Given the description of an element on the screen output the (x, y) to click on. 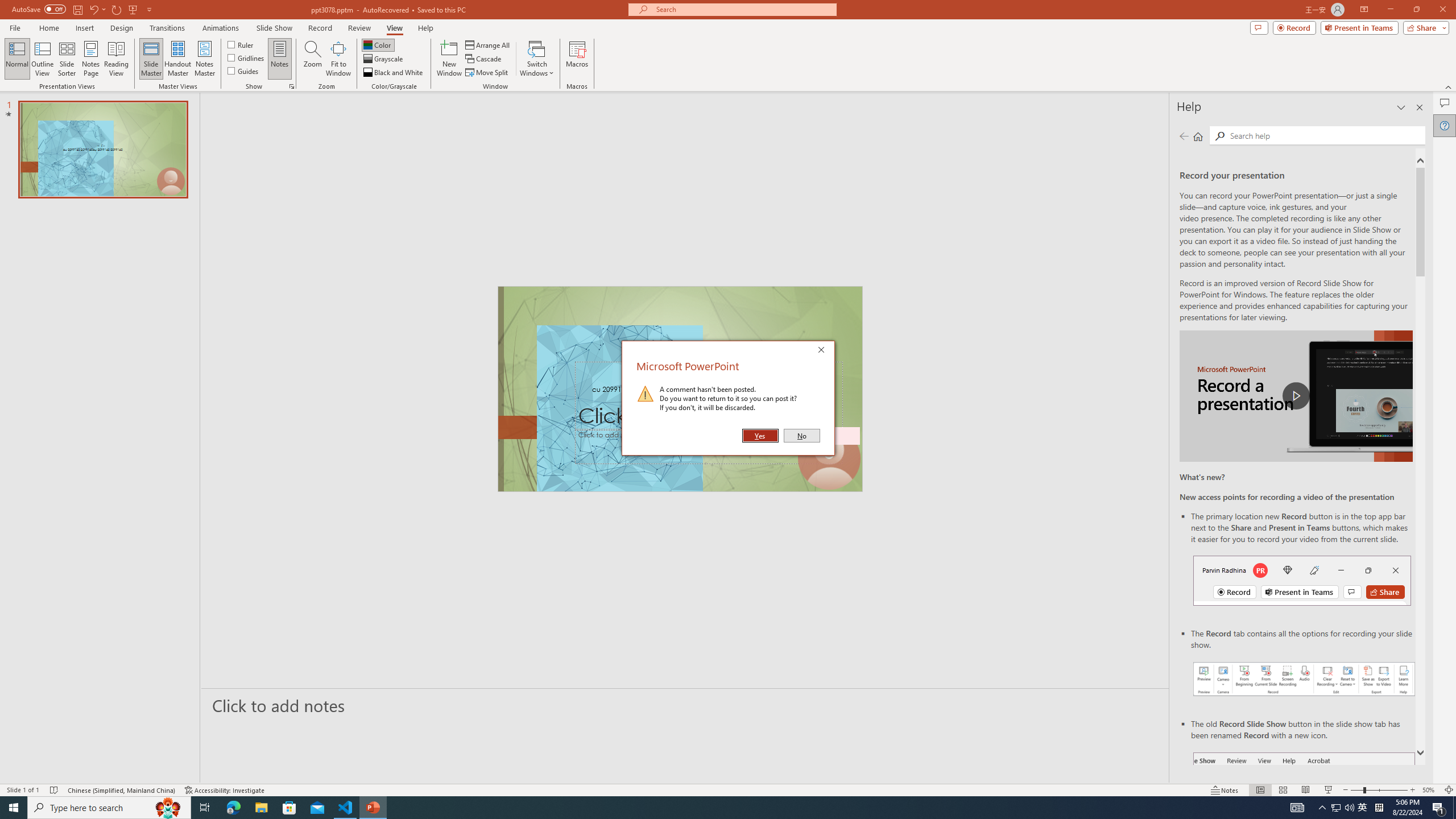
Record your presentations screenshot one (1304, 678)
Arrange All (488, 44)
Zoom... (312, 58)
Ruler (241, 44)
